Given the description of an element on the screen output the (x, y) to click on. 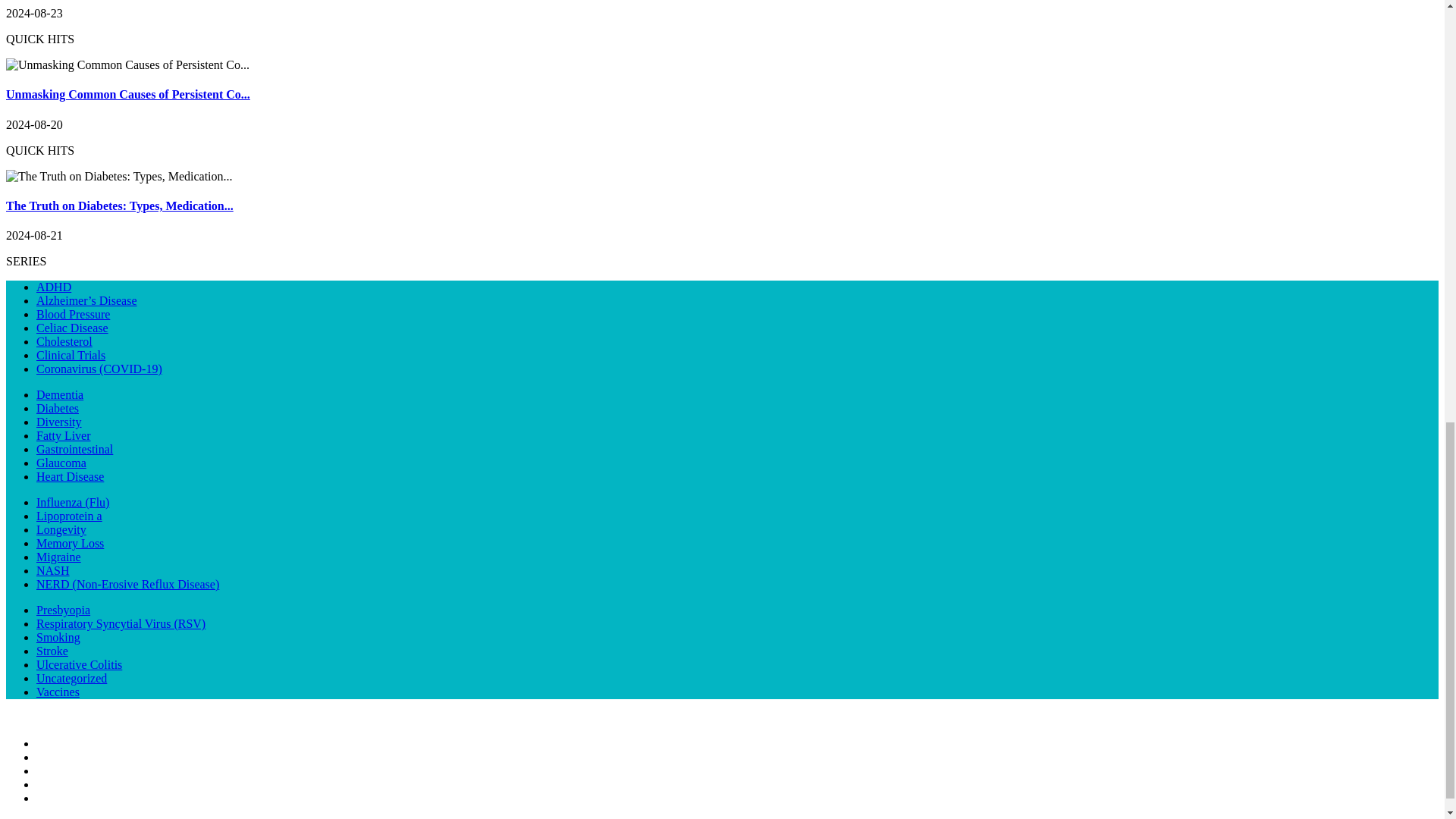
Diversity (58, 421)
Memory Loss (69, 543)
Fatty Liver (63, 435)
Blood Pressure (73, 314)
Lipoprotein a (68, 515)
Longevity (60, 529)
Clinical Trials (70, 354)
Unmasking Common Causes of Persistent Co... (127, 93)
ADHD (53, 286)
The Truth on Diabetes: Types, Medication... (118, 205)
